Given the description of an element on the screen output the (x, y) to click on. 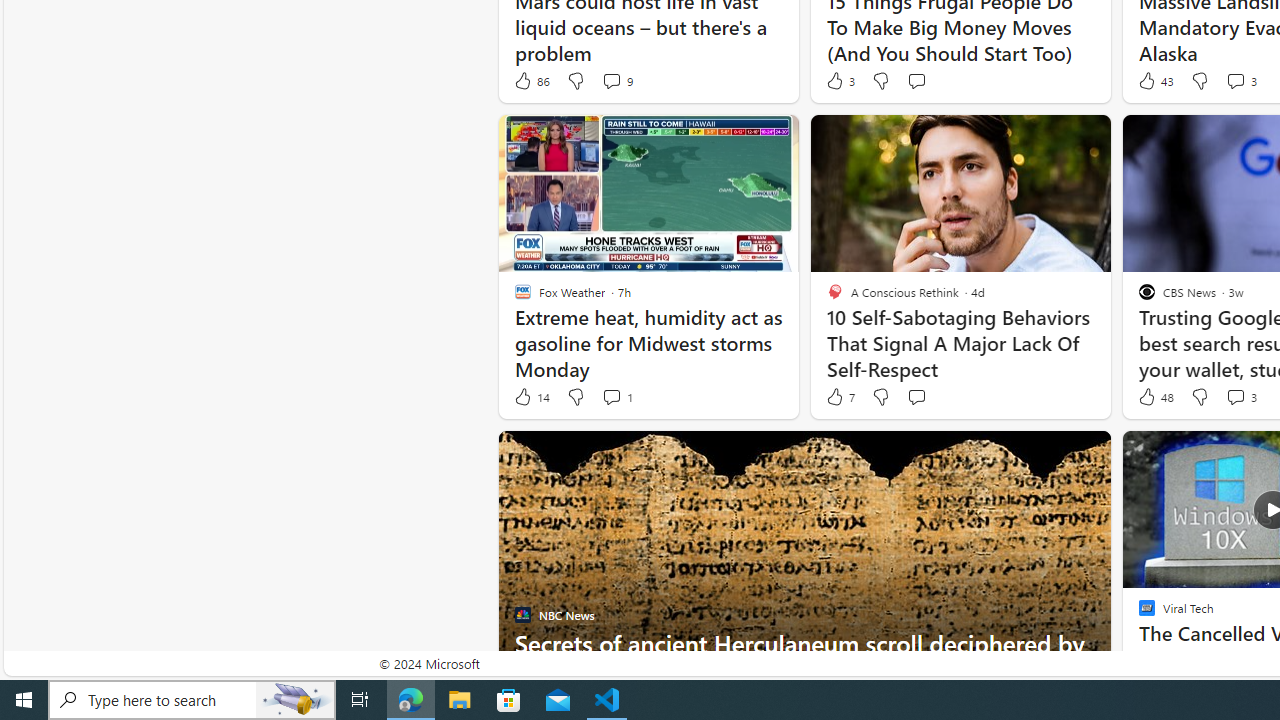
3 Like (839, 80)
48 Like (1154, 397)
86 Like (531, 80)
